Given the description of an element on the screen output the (x, y) to click on. 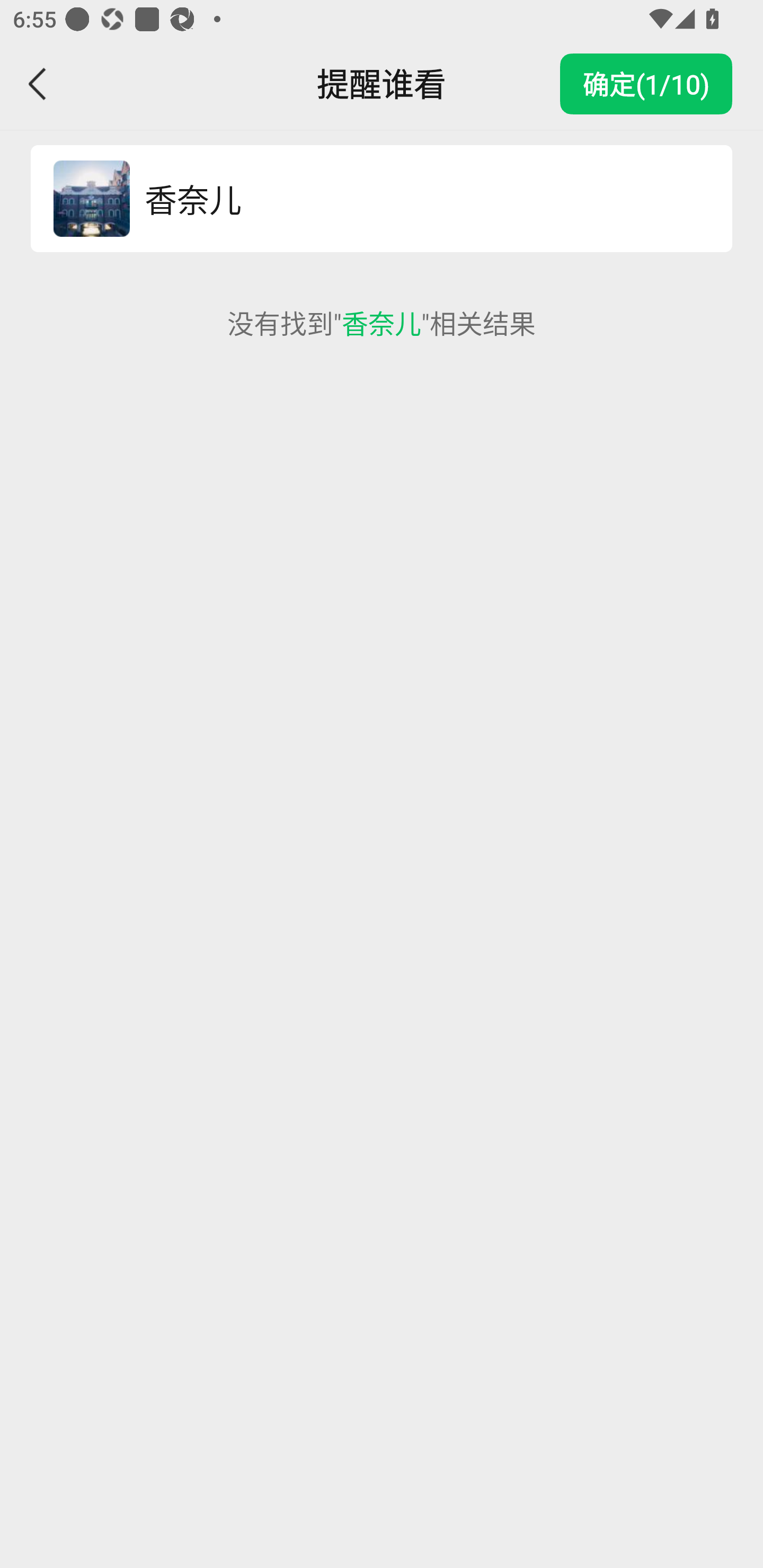
返回 (38, 83)
确定(1/10) (646, 83)
CYX (91, 198)
香奈儿 (418, 198)
